Given the description of an element on the screen output the (x, y) to click on. 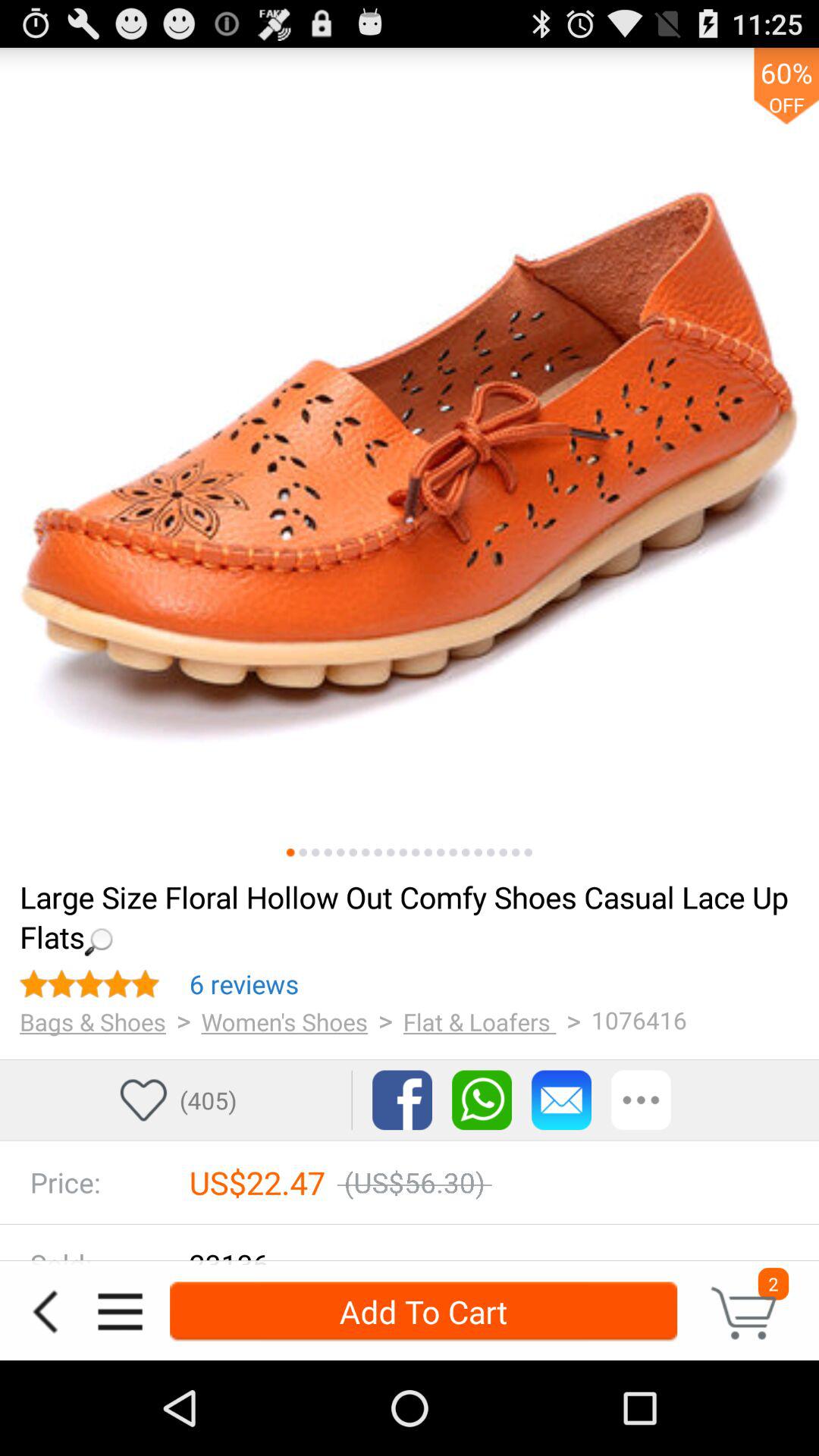
see additional pictures (465, 852)
